Given the description of an element on the screen output the (x, y) to click on. 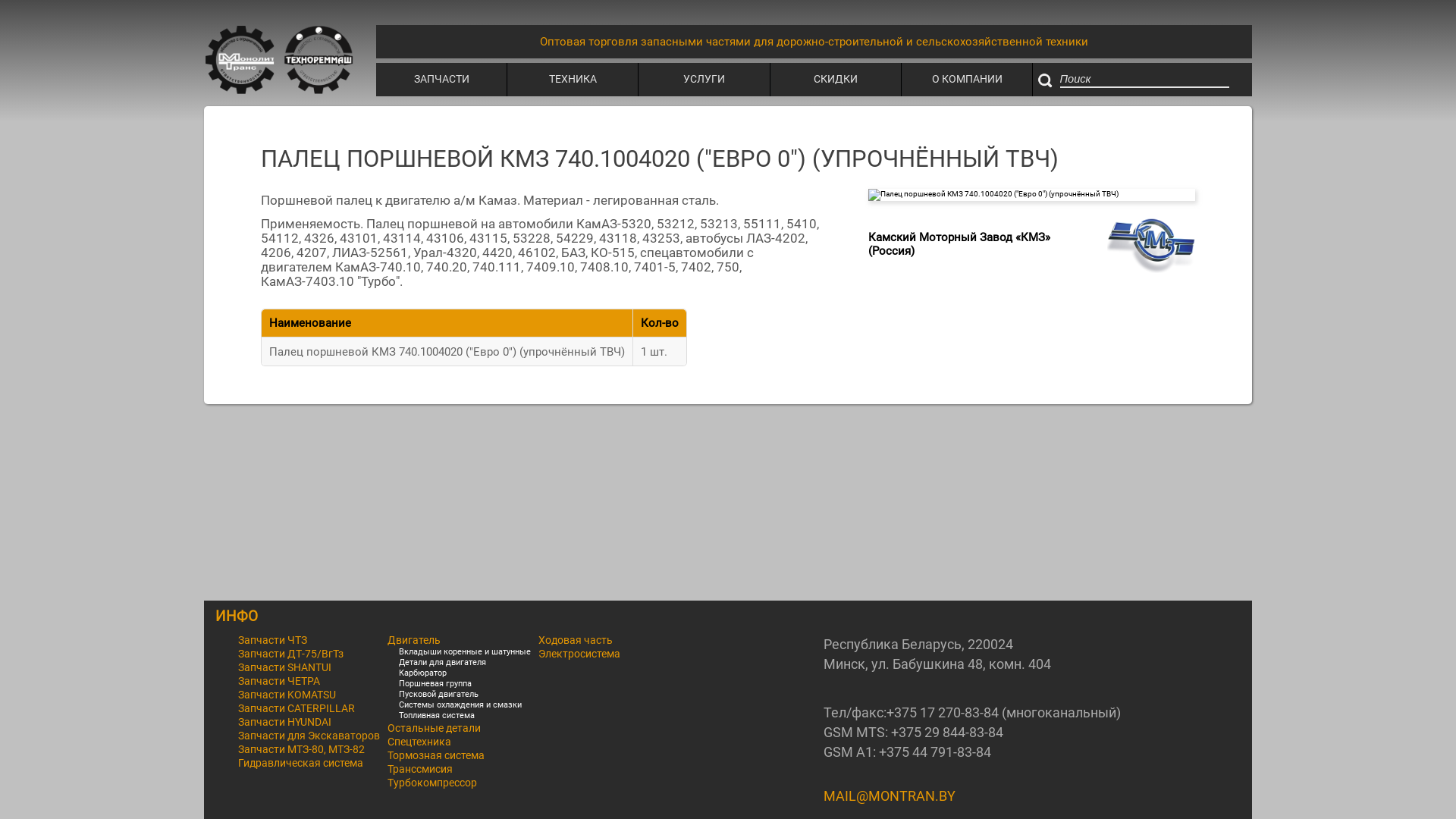
+375 29 844-83-84 Element type: text (947, 732)
+375 17 270-83-84 Element type: text (942, 712)
MAIL@MONTRAN.BY Element type: text (889, 795)
+375 44 791-83-84 Element type: text (934, 751)
